Given the description of an element on the screen output the (x, y) to click on. 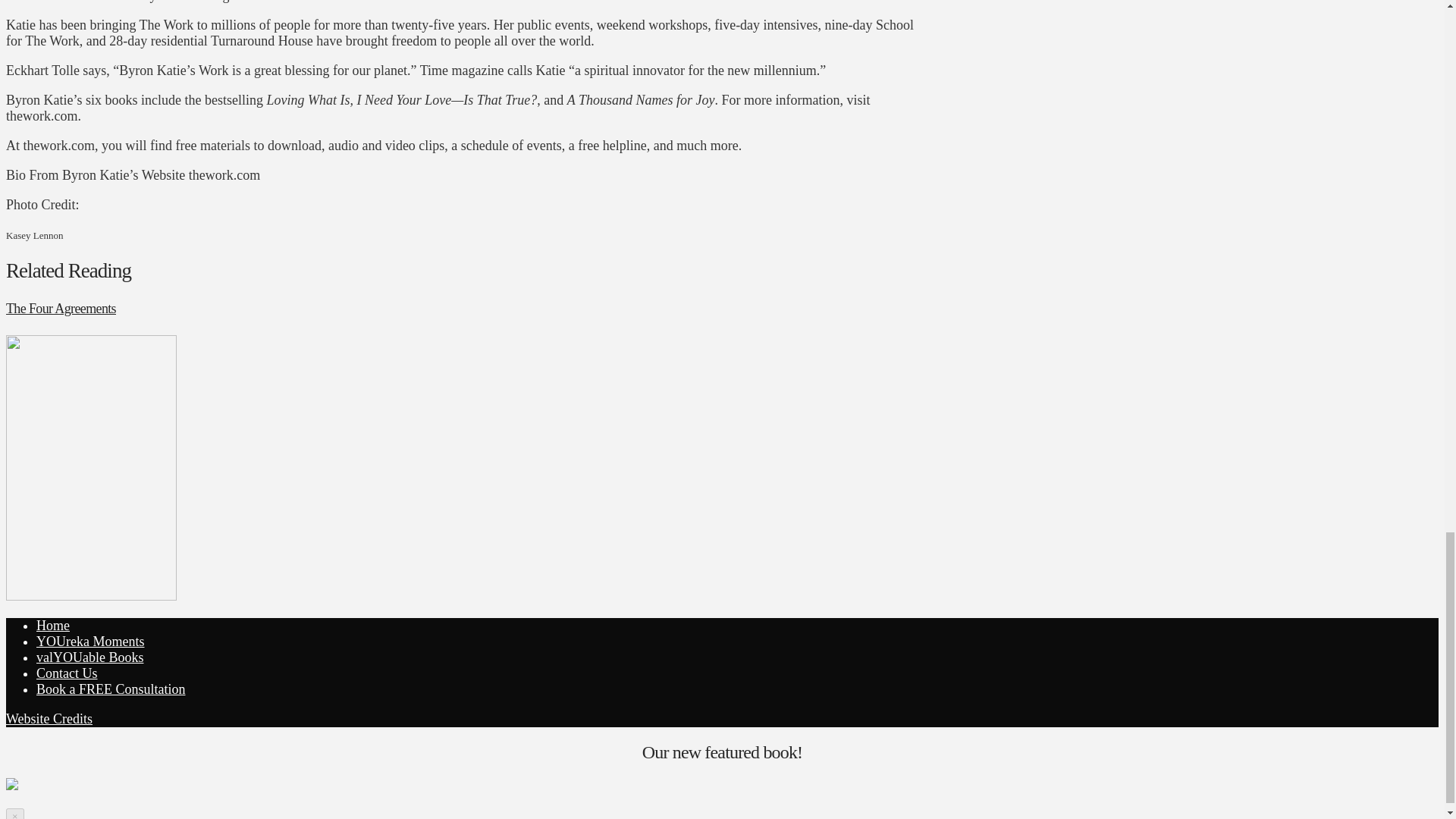
valYOUable Books (89, 657)
Contact Us (66, 672)
Home (52, 625)
Website Credits (49, 718)
YOUreka Moments (90, 641)
Book a FREE Consultation (111, 688)
The Four Agreements (60, 308)
